Given the description of an element on the screen output the (x, y) to click on. 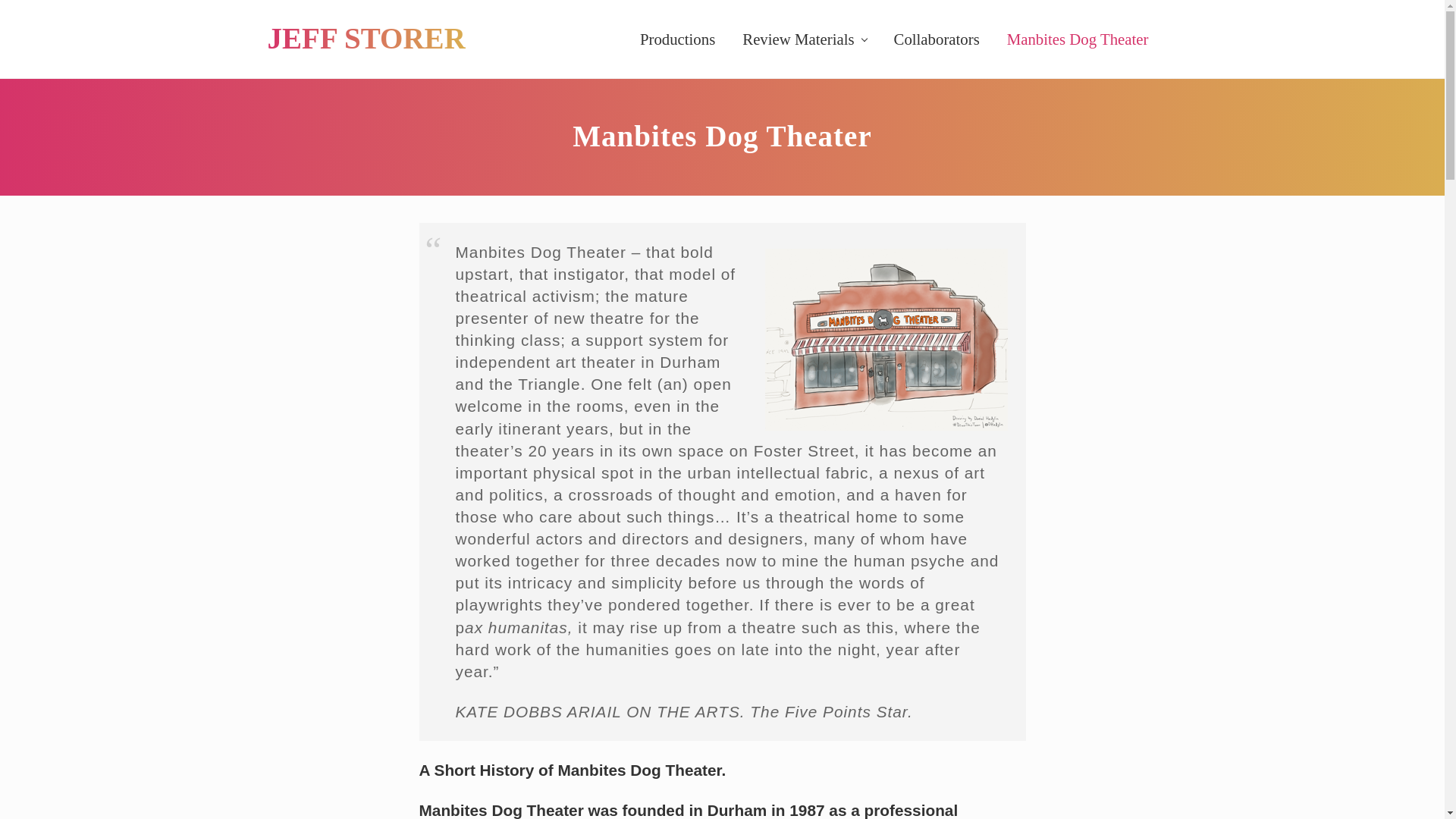
Review Materials (803, 39)
Collaborators (936, 39)
Productions (676, 39)
Manbites Dog Theater (1077, 39)
JEFF STORER (365, 38)
